Given the description of an element on the screen output the (x, y) to click on. 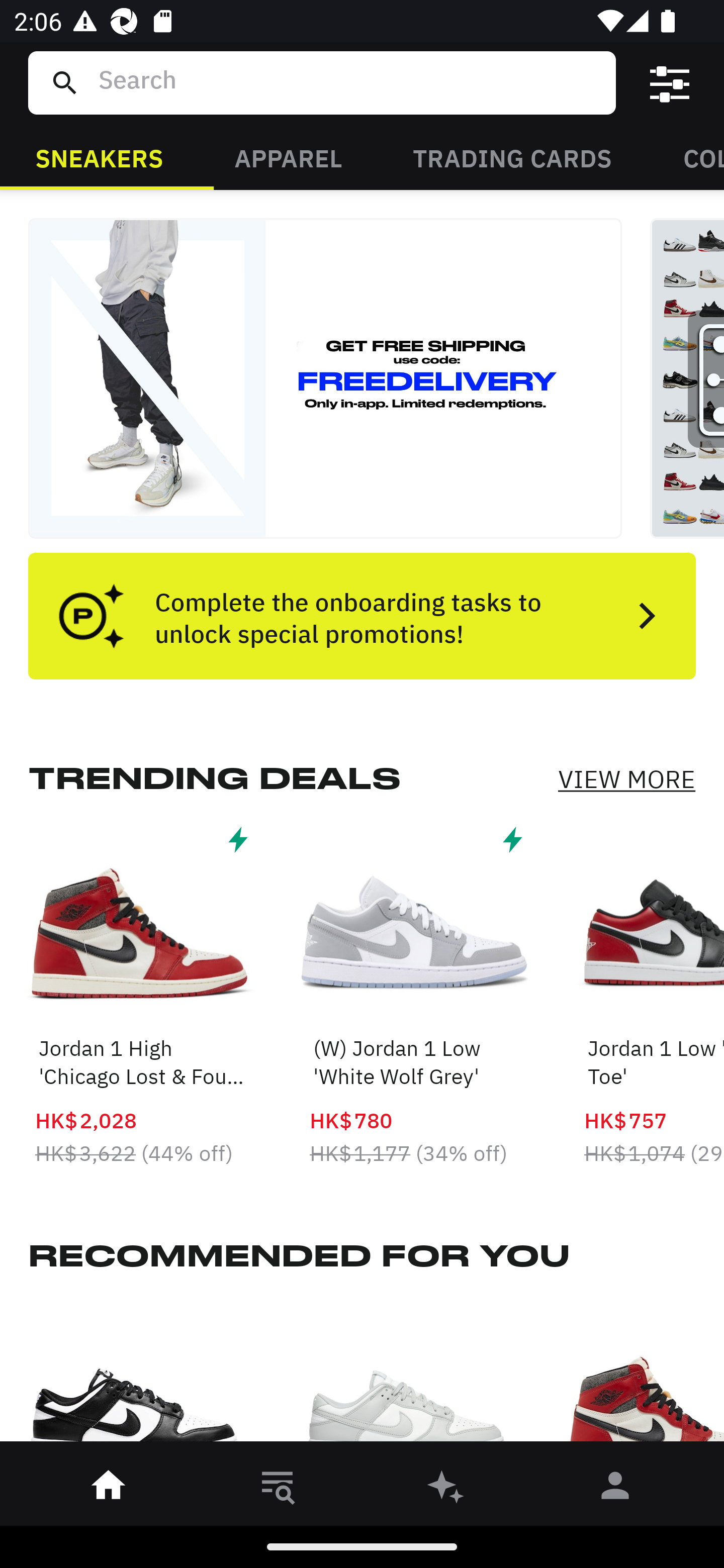
Search (349, 82)
 (669, 82)
SNEAKERS (99, 156)
APPAREL (287, 156)
TRADING CARDS (512, 156)
VIEW MORE (626, 779)
󰋜 (108, 1488)
󱎸 (277, 1488)
󰫢 (446, 1488)
󰀄 (615, 1488)
